Given the description of an element on the screen output the (x, y) to click on. 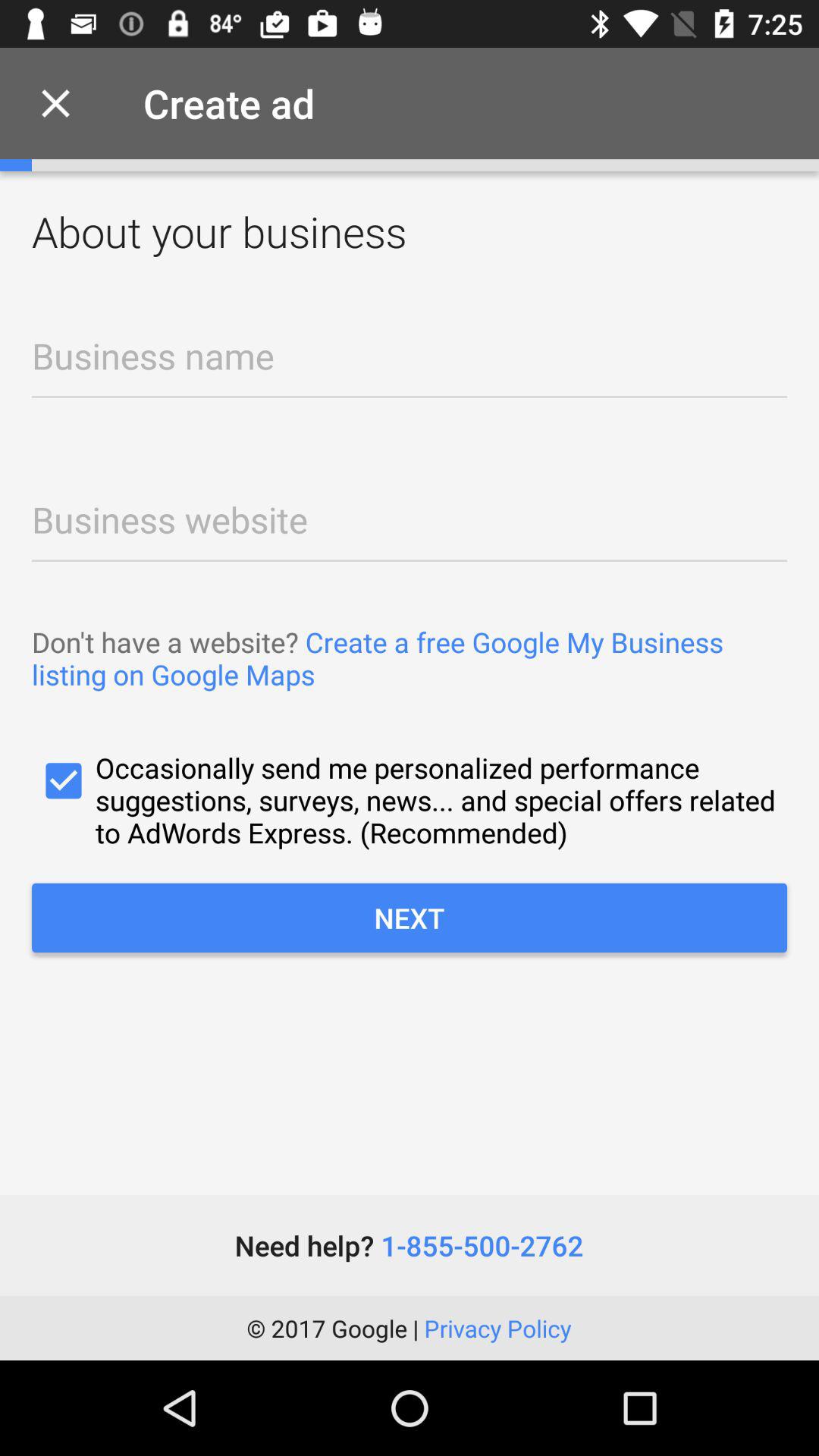
jump to the next icon (409, 917)
